Given the description of an element on the screen output the (x, y) to click on. 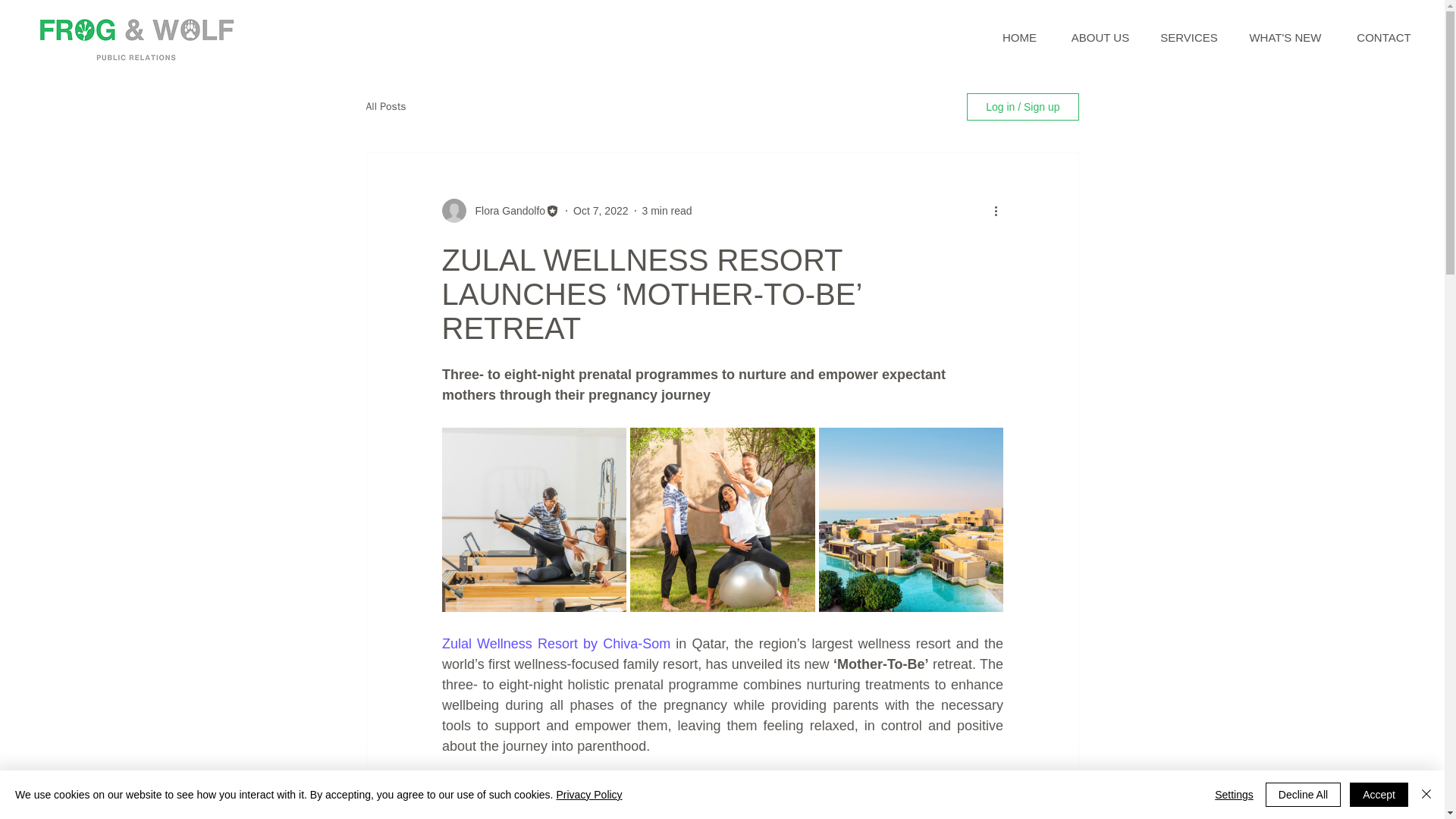
Oct 7, 2022 (600, 210)
SERVICES (1188, 37)
CONTACT (1383, 37)
Zulal Wellness Resort by Chiva-Som (555, 643)
Flora Gandolfo (504, 211)
HOME (1019, 37)
All Posts (385, 106)
WHAT'S NEW (1284, 37)
3 min read (666, 210)
ABOUT US (1099, 37)
